Given the description of an element on the screen output the (x, y) to click on. 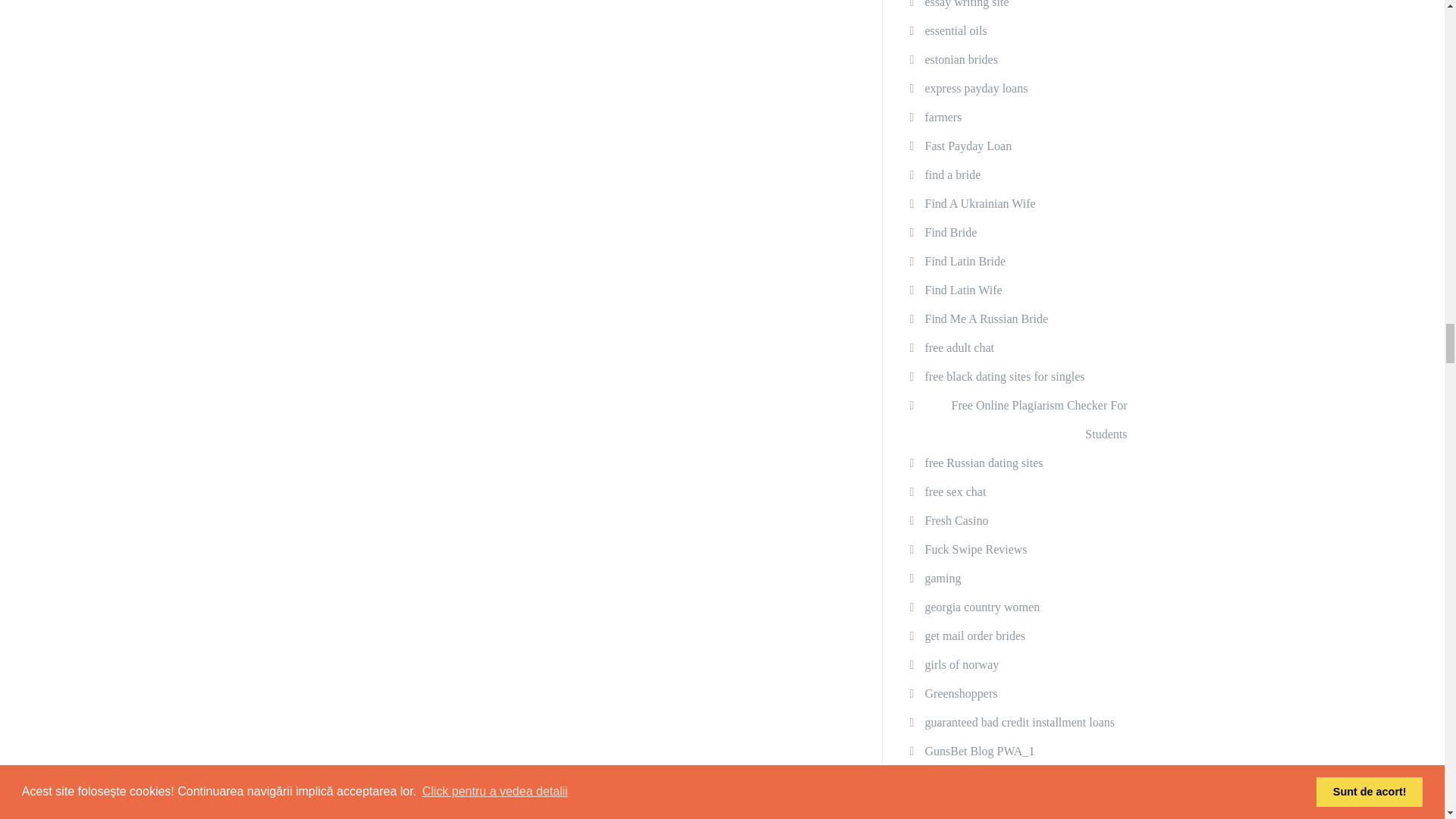
home based business (975, 779)
gaming (942, 578)
